Given the description of an element on the screen output the (x, y) to click on. 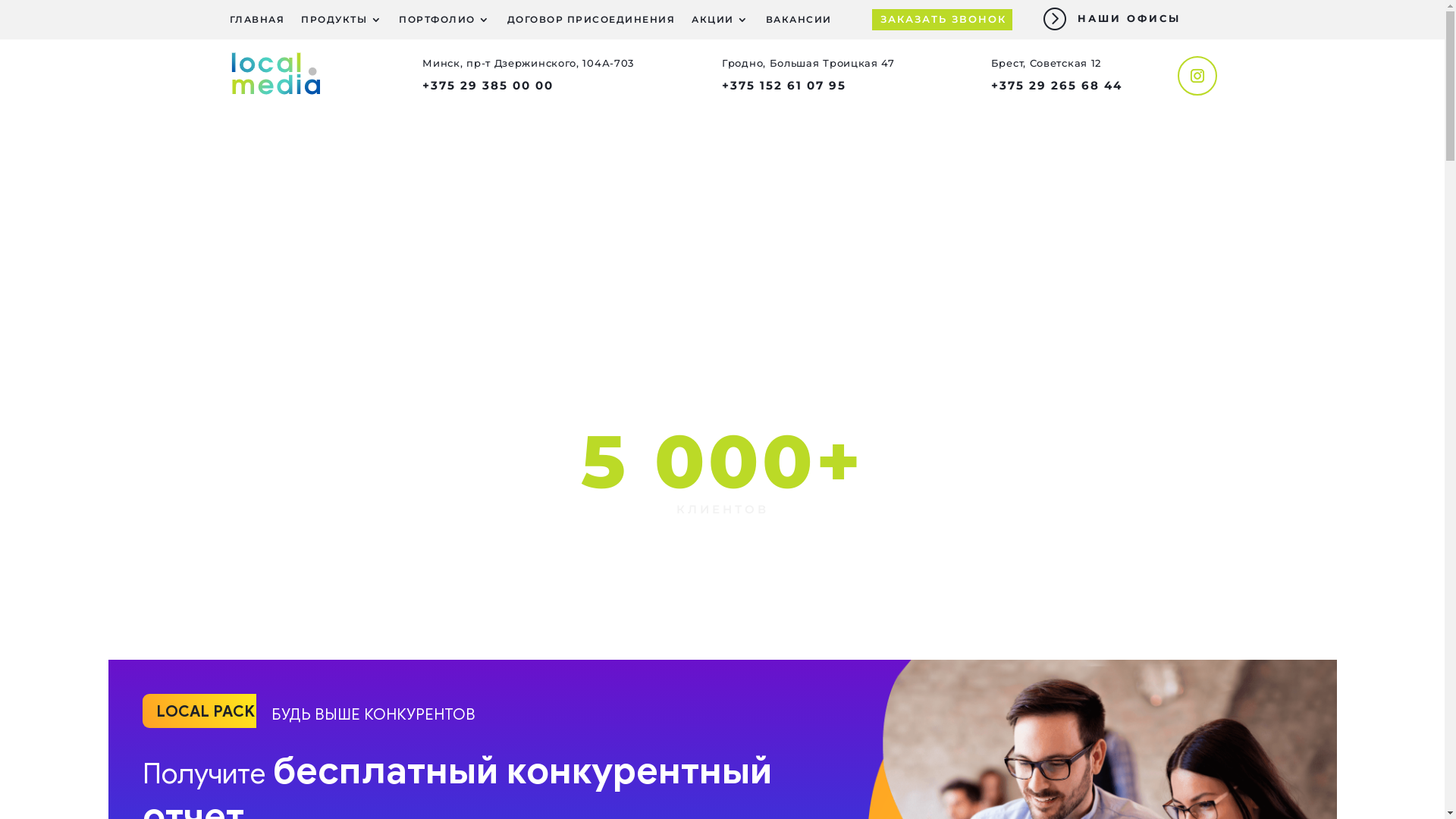
= Element type: text (1053, 18)
+375 152 61 07 95 Element type: text (783, 85)
+375 29 385 00 00 Element type: text (487, 85)
lmg_vert (1) Element type: hover (274, 73)
+375 29 265 68 44 Element type: text (1056, 85)
